Given the description of an element on the screen output the (x, y) to click on. 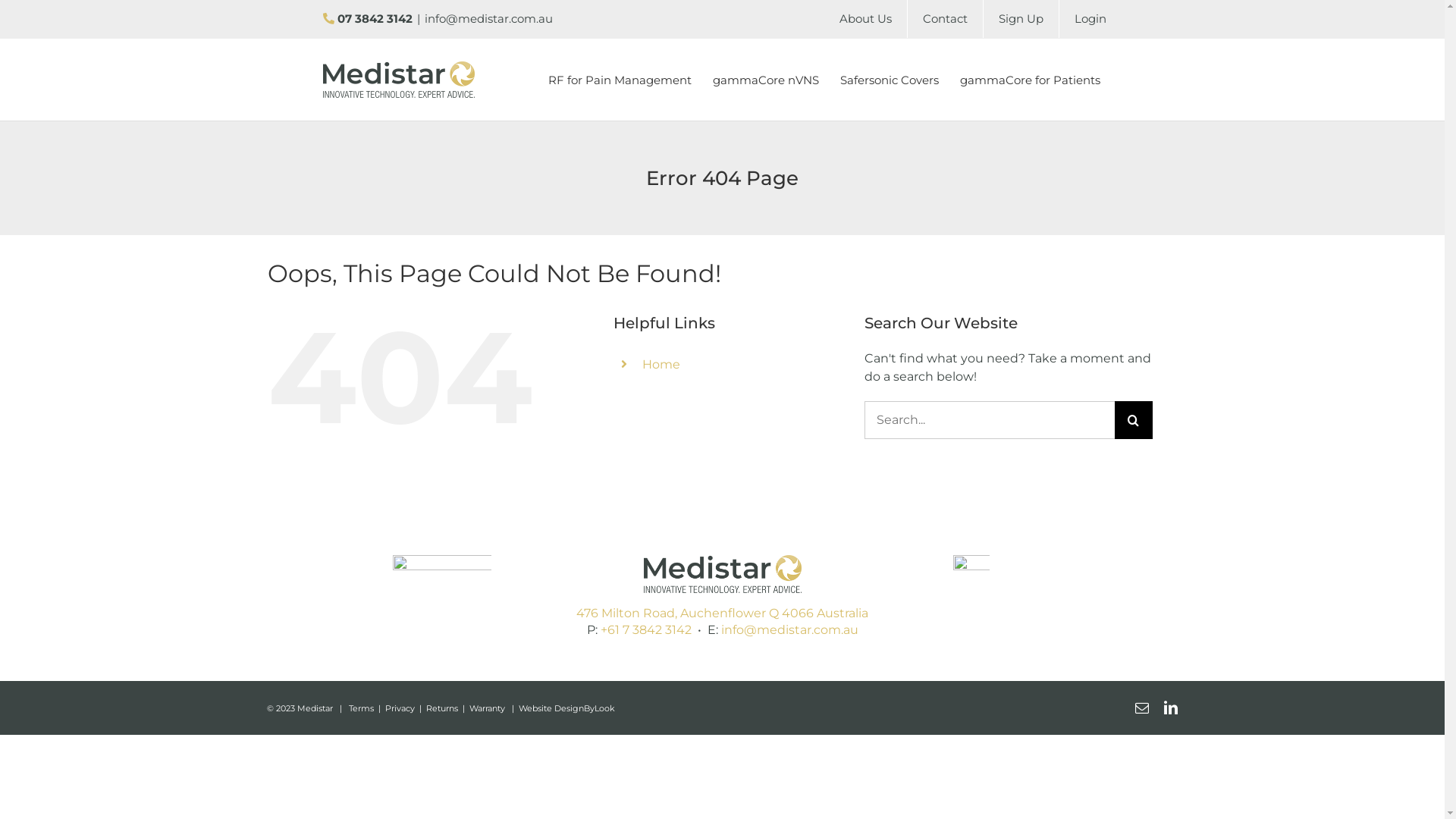
+61 7 3842 3142 Element type: text (645, 629)
gammaCore for Patients Element type: text (1030, 79)
Safersonic Covers Element type: text (889, 79)
476 Milton Road, Auchenflower Q 4066 Australia Element type: text (722, 612)
LinkedIn Element type: hover (1170, 707)
Sign Up Element type: text (1020, 18)
Health & Safety 18001 PMS3282 Element type: hover (971, 595)
Email Element type: hover (1141, 707)
Privacy Element type: text (399, 707)
Returns Element type: text (442, 707)
Login Element type: text (1090, 18)
Website DesignByLook Element type: text (566, 707)
Medistar-2022-x2 Element type: hover (721, 574)
Warranty Element type: text (487, 707)
Home Element type: text (661, 363)
RF for Pain Management Element type: text (619, 79)
Contact Element type: text (944, 18)
About Us Element type: text (865, 18)
info@medistar.com.au Element type: text (488, 18)
MTAA-logo Element type: hover (441, 596)
gammaCore nVNS Element type: text (765, 79)
Terms Element type: text (360, 707)
info@medistar.com.au Element type: text (788, 629)
